Given the description of an element on the screen output the (x, y) to click on. 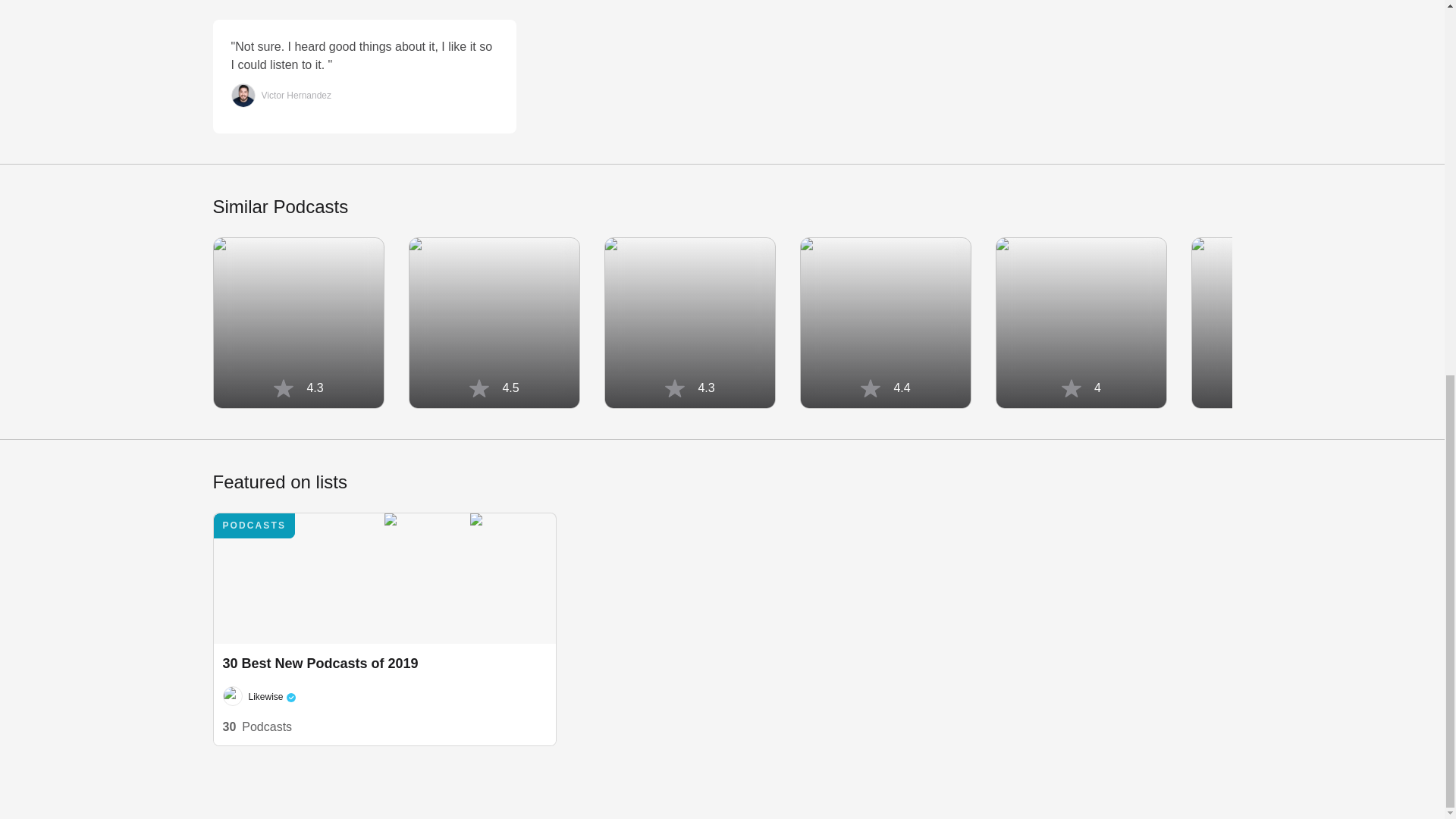
30Podcasts (257, 727)
PODCASTS (269, 696)
30 Best New Podcasts of 2019 (385, 578)
